Given the description of an element on the screen output the (x, y) to click on. 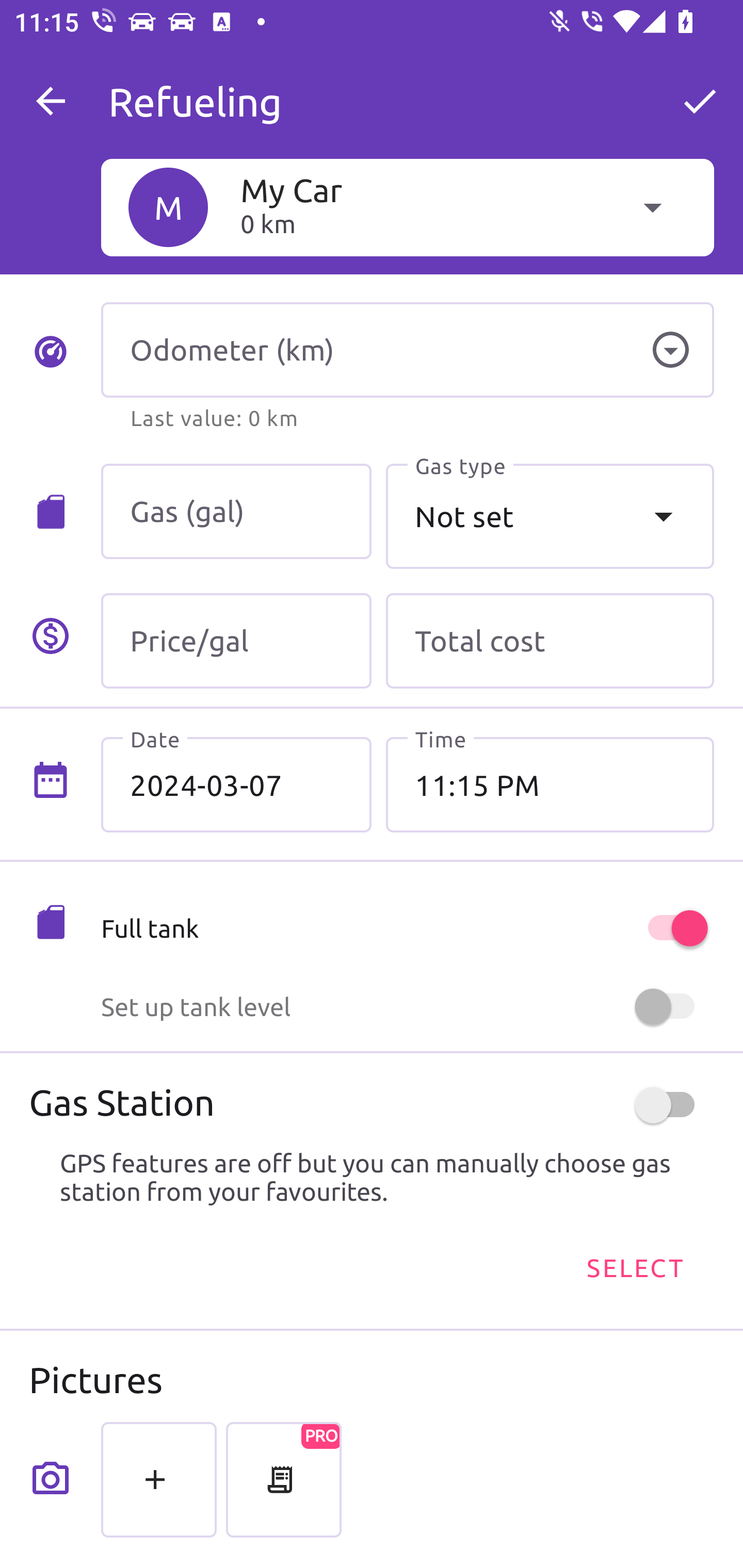
Navigate up (50, 101)
OK (699, 101)
M My Car 0 km (407, 206)
Odometer (km) (407, 350)
Odometer (670, 349)
Gas (gal) (236, 511)
Not set (549, 516)
Price/gal (236, 640)
Total cost  (549, 640)
2024-03-07 (236, 784)
11:15 PM (549, 784)
Full tank (407, 928)
Set up tank level (407, 1006)
SELECT (634, 1267)
